Given the description of an element on the screen output the (x, y) to click on. 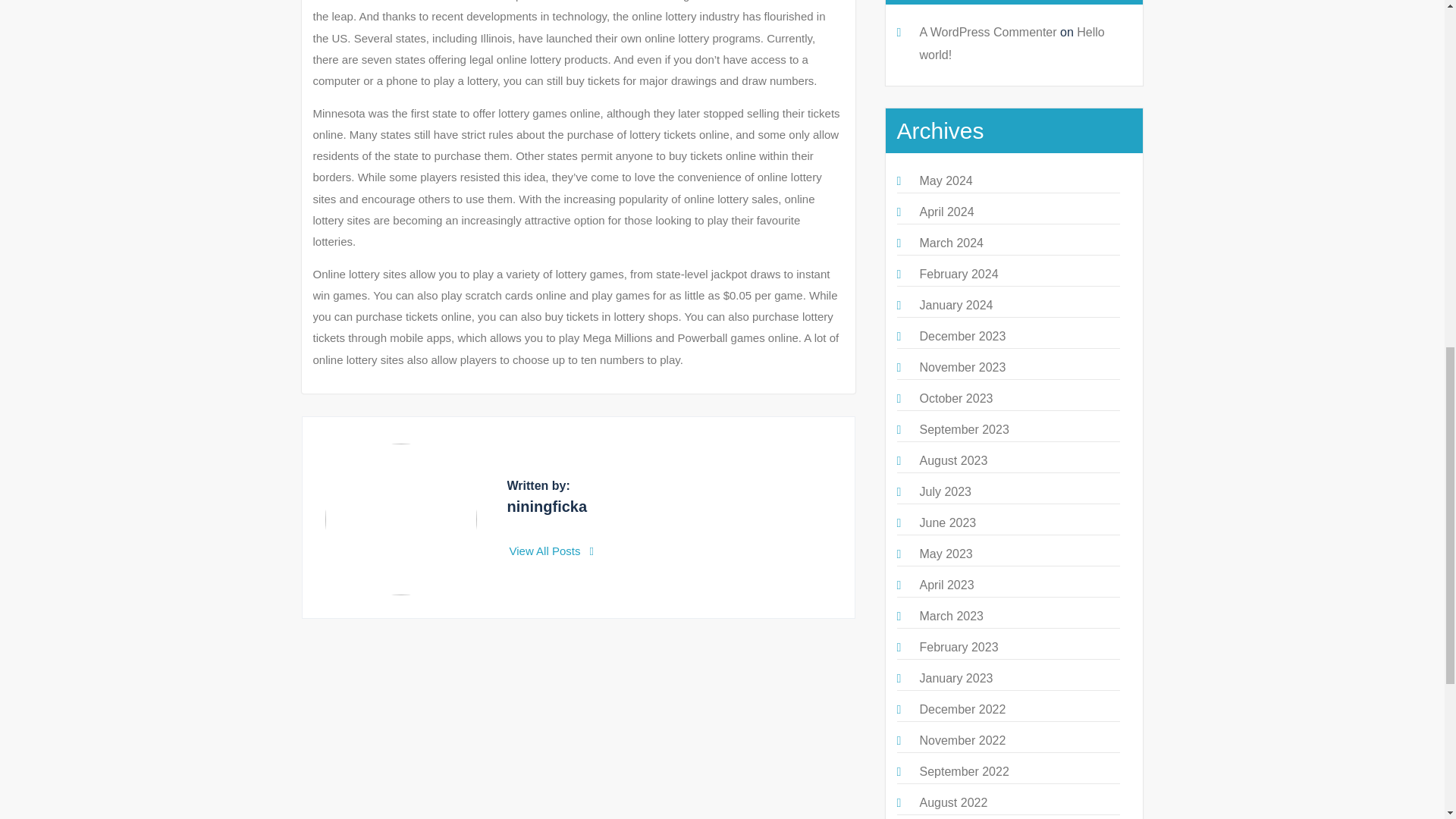
Hello world! (1010, 43)
December 2022 (962, 708)
August 2023 (952, 460)
January 2024 (955, 305)
October 2023 (955, 398)
January 2023 (955, 677)
June 2023 (946, 522)
August 2022 (952, 802)
February 2024 (957, 273)
February 2023 (957, 646)
April 2023 (946, 584)
September 2022 (963, 771)
December 2023 (962, 336)
April 2024 (946, 211)
September 2023 (963, 429)
